Given the description of an element on the screen output the (x, y) to click on. 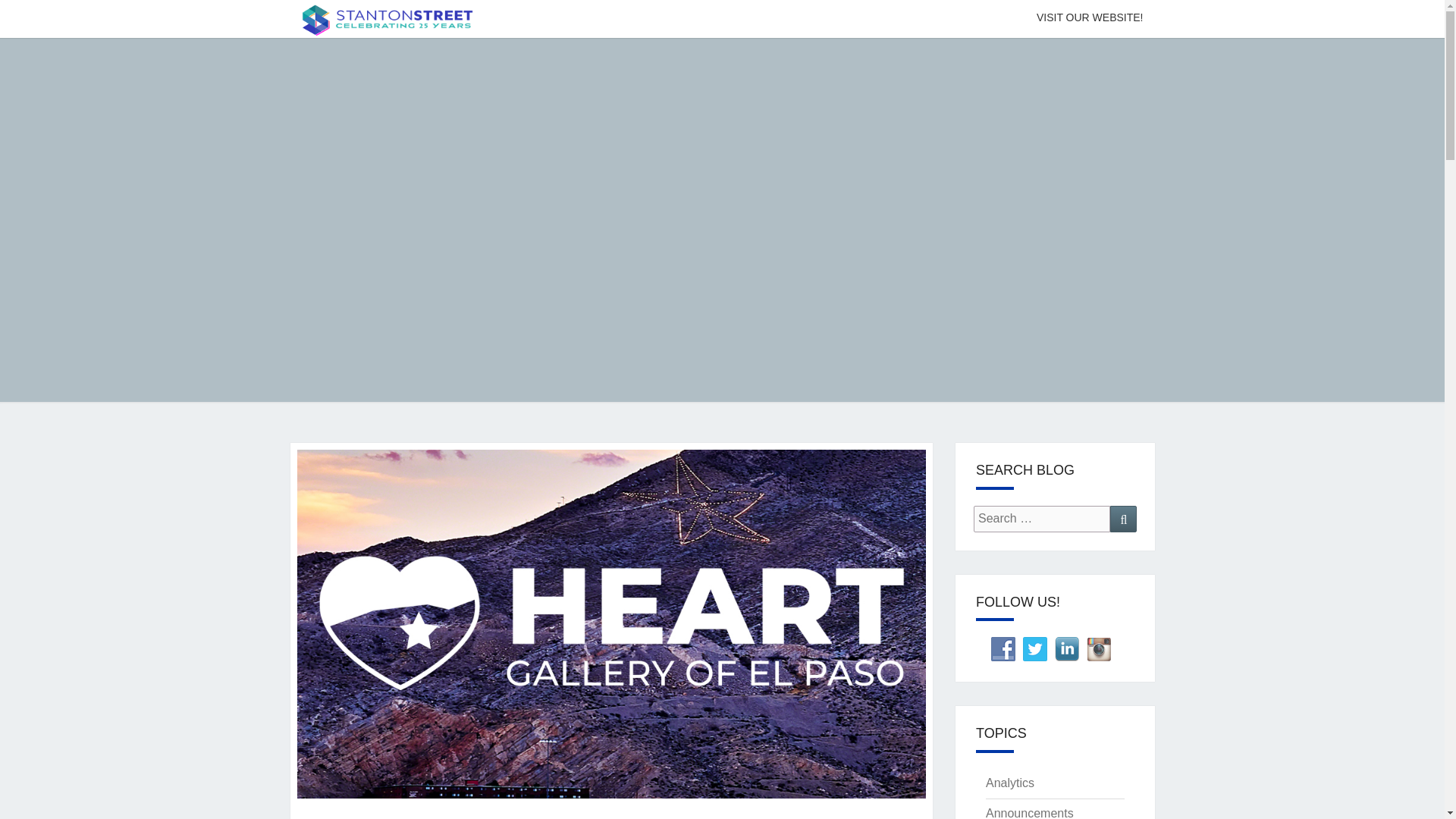
Search for: (1041, 519)
Stanton Street Website (1089, 18)
VISIT OUR WEBSITE! (1089, 18)
